Given the description of an element on the screen output the (x, y) to click on. 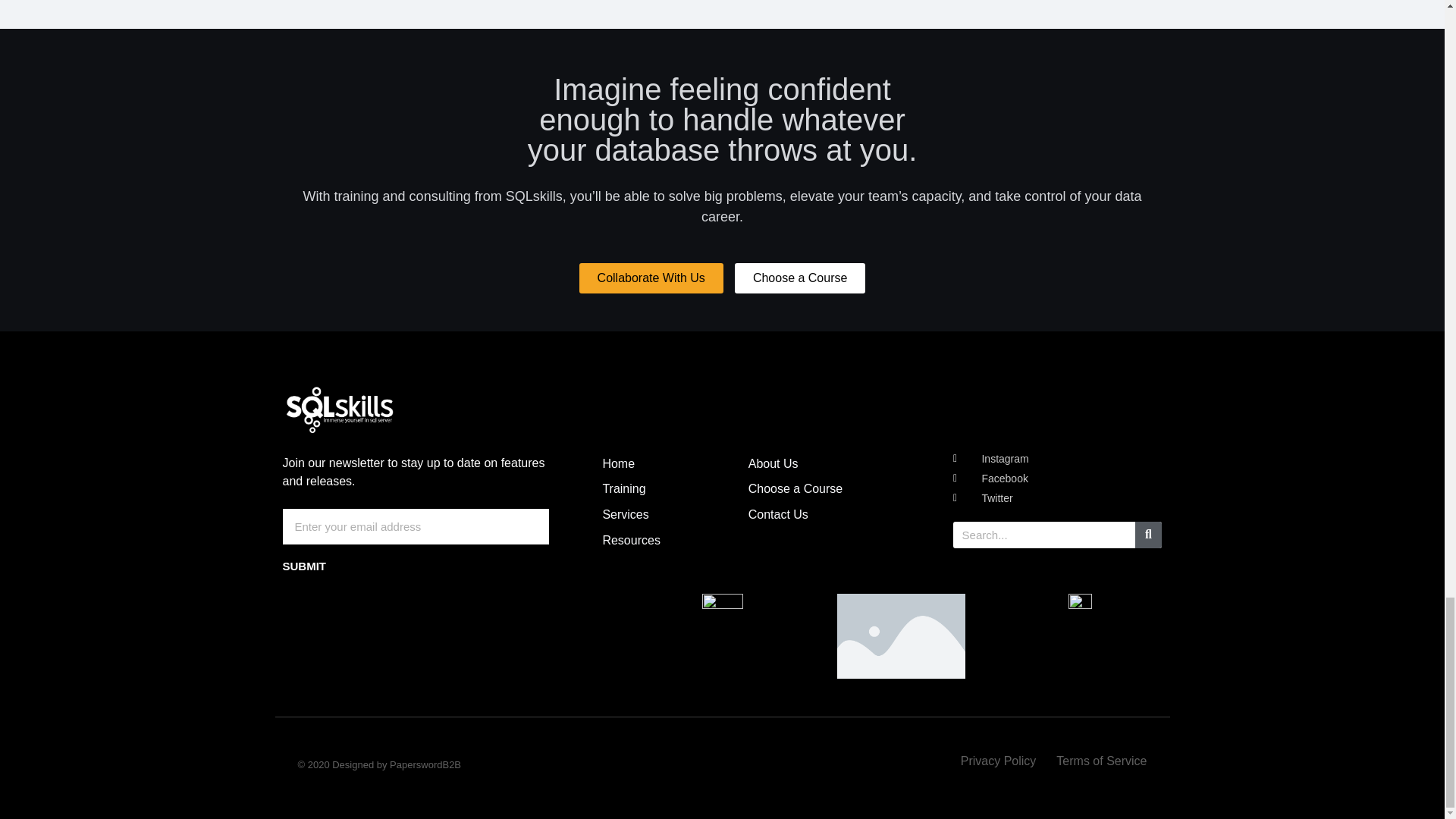
Home (618, 463)
Choose a Course (800, 277)
SUBMIT (304, 565)
Training (623, 488)
Collaborate With Us (651, 277)
